Given the description of an element on the screen output the (x, y) to click on. 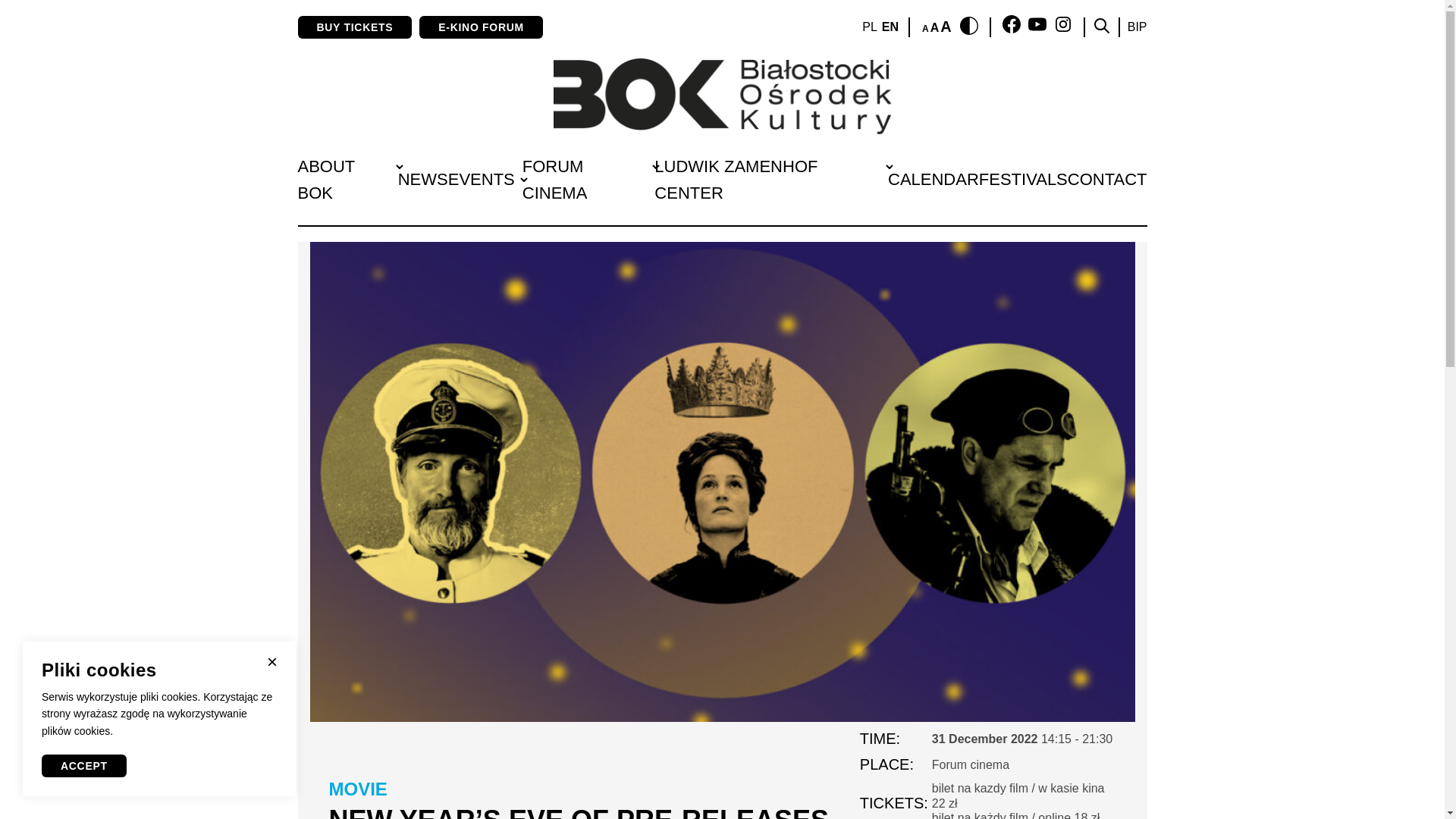
E-KINO FORUM (481, 26)
EVENTS (481, 179)
BIP (1136, 26)
ABOUT BOK (325, 179)
PL (869, 26)
AAA (936, 27)
FORUM CINEMA (555, 179)
EN (890, 26)
NEWS (422, 179)
LUDWIK ZAMENHOF CENTER (734, 179)
BUY TICKETS (354, 26)
CONTACT (1107, 179)
FESTIVALS (1022, 179)
CALENDAR (933, 179)
MOVIE (358, 788)
